Given the description of an element on the screen output the (x, y) to click on. 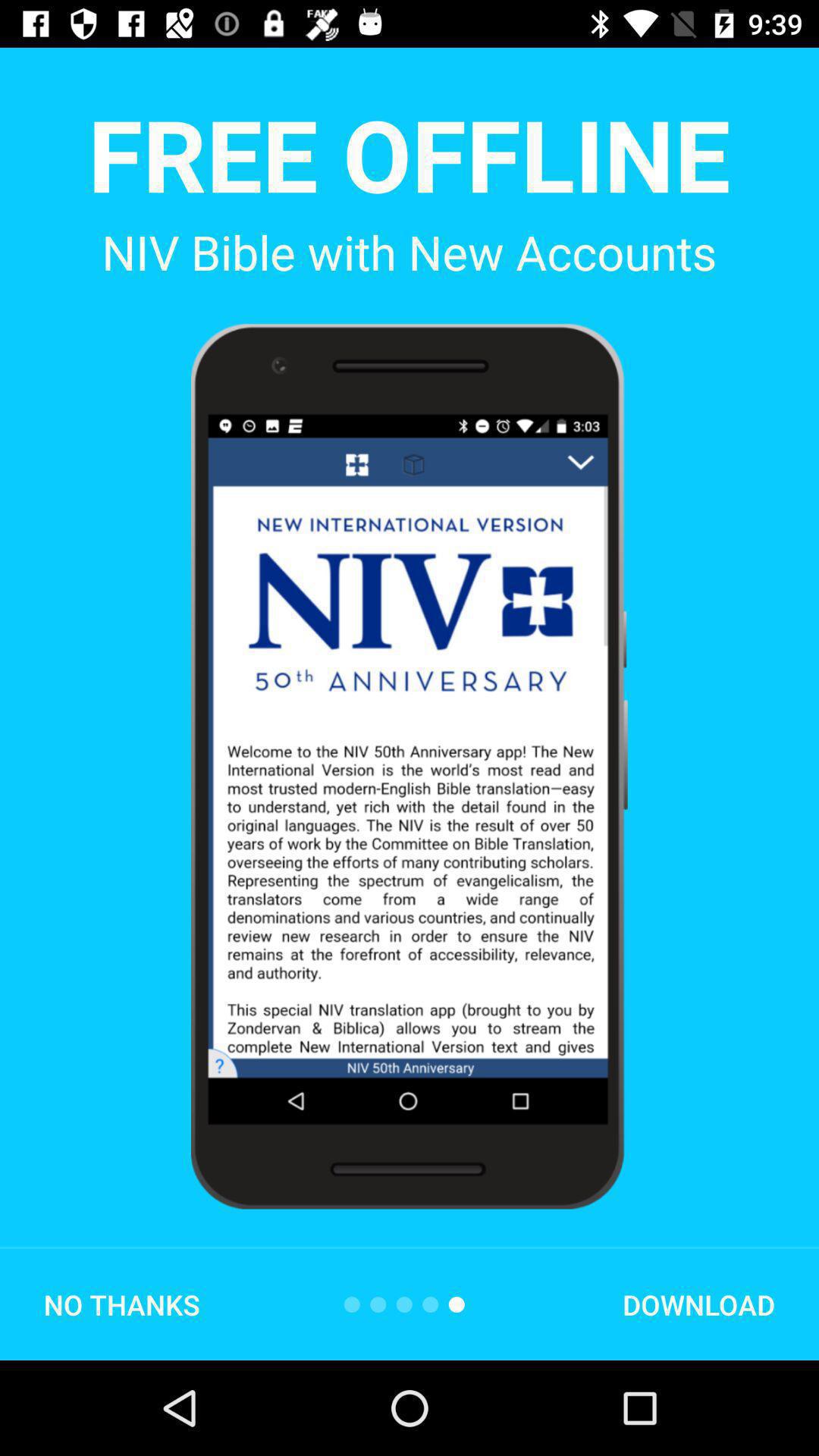
turn on no thanks (121, 1304)
